Given the description of an element on the screen output the (x, y) to click on. 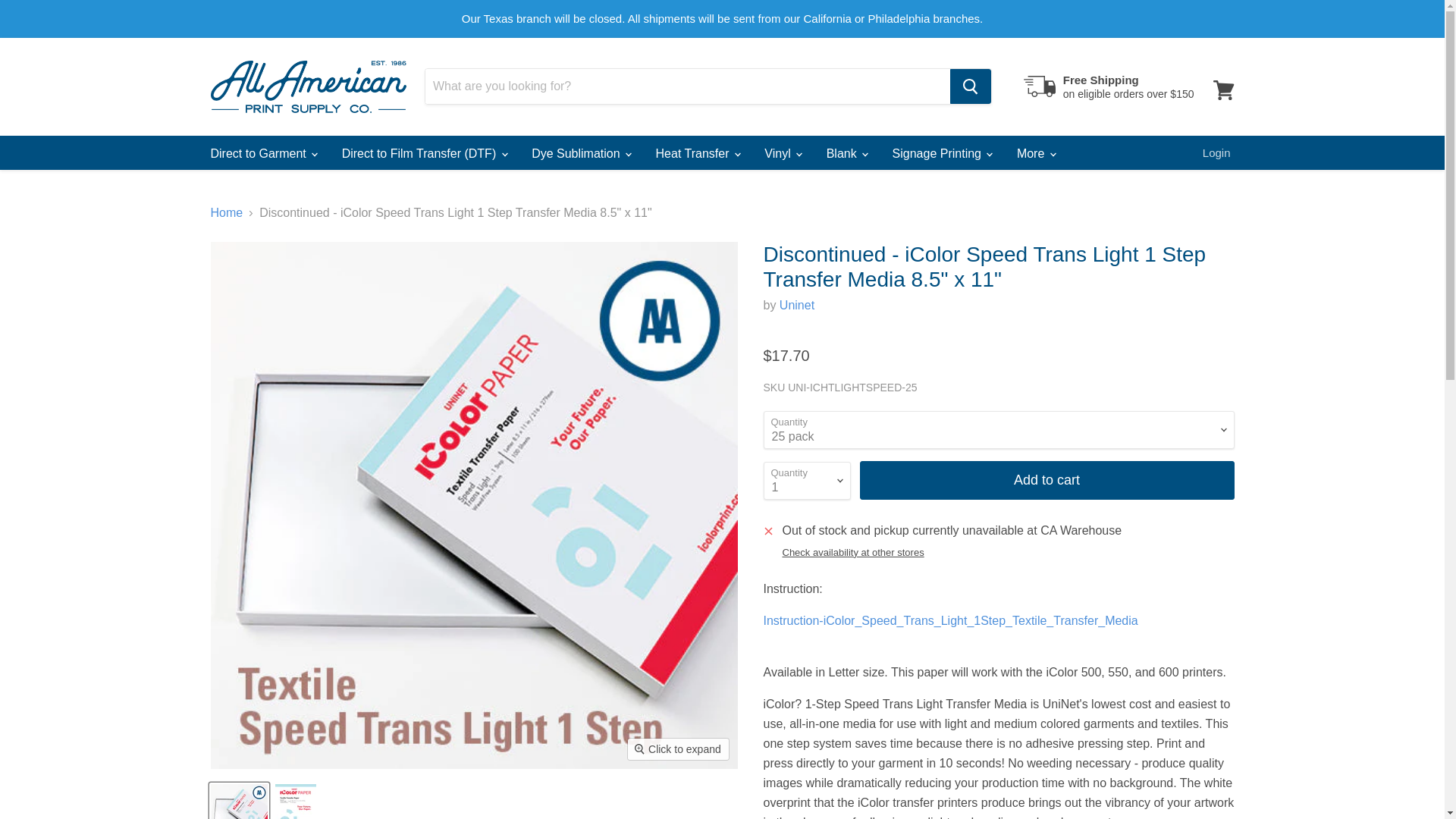
View cart (1223, 89)
Direct to Garment (262, 153)
Uninet (795, 305)
